Given the description of an element on the screen output the (x, y) to click on. 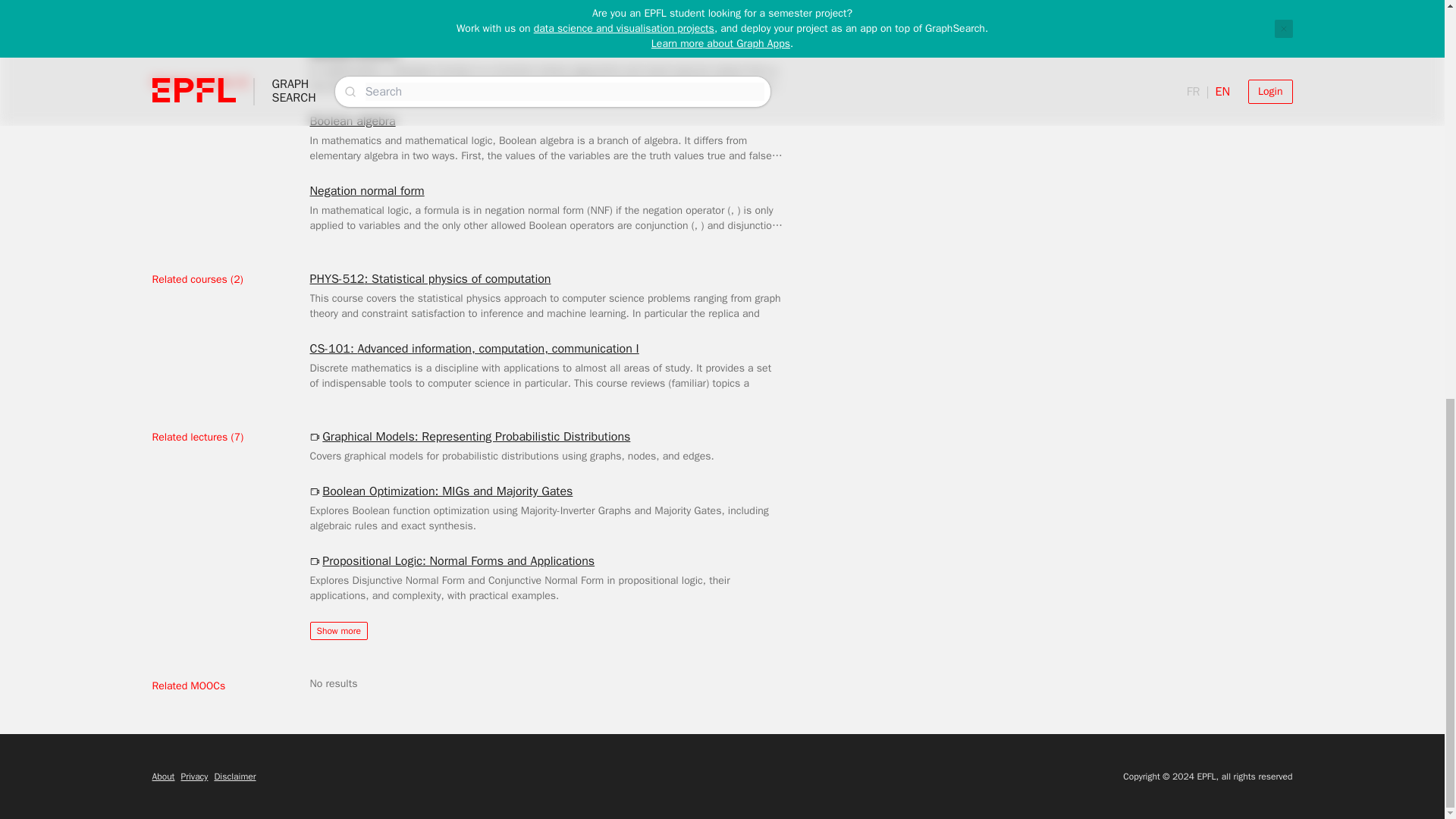
Boolean Optimization: MIGs and Majority Gates (440, 491)
CS-101: Advanced information, computation, communication I (473, 348)
About (162, 776)
Graphical Models: Representing Probabilistic Distributions (469, 436)
Boolean algebra (351, 121)
Boolean function (353, 51)
Propositional Logic: Normal Forms and Applications (451, 561)
Privacy (194, 776)
Negation normal form (365, 190)
Show more (337, 630)
PHYS-512: Statistical physics of computation (429, 279)
Disclaimer (235, 776)
